Given the description of an element on the screen output the (x, y) to click on. 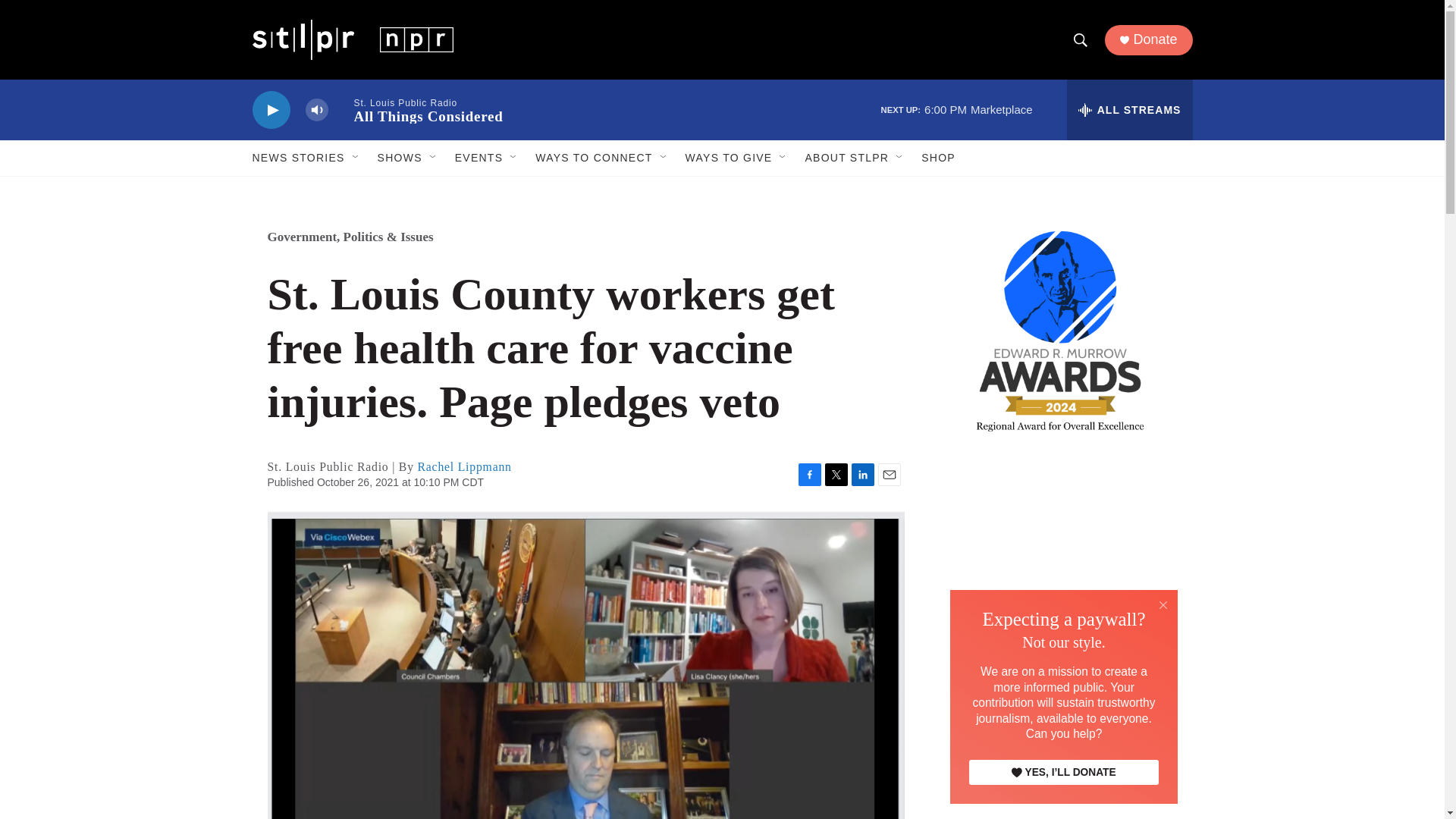
3rd party ad content (1062, 755)
Close (1162, 605)
Close (1162, 604)
3rd party ad content (1062, 566)
